Given the description of an element on the screen output the (x, y) to click on. 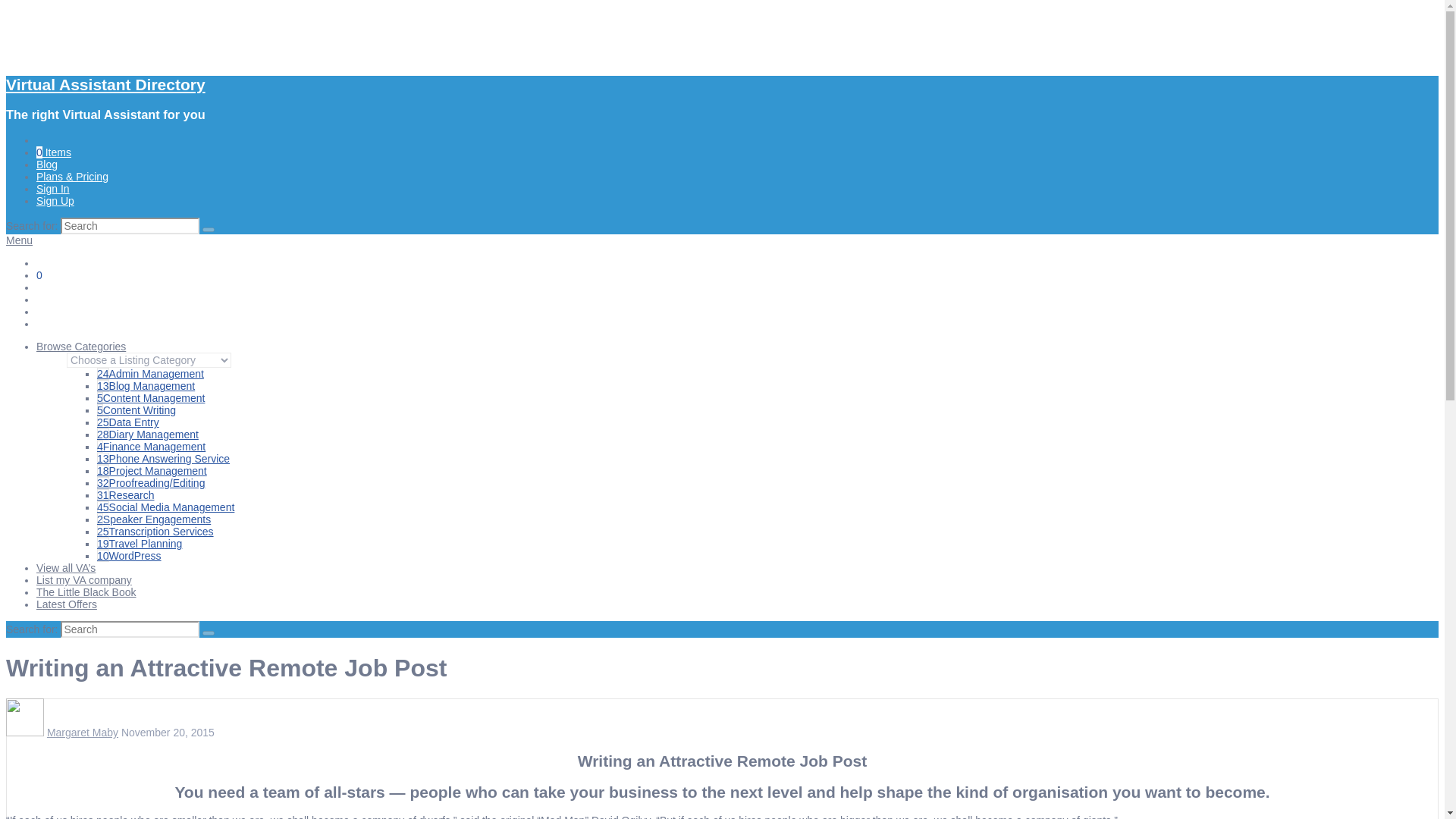
The Little Black Book (86, 592)
Blog (47, 164)
View all listings in Diary Management (147, 434)
13Phone Answering Service (163, 458)
View all listings in Transcription Services (155, 531)
19Travel Planning (139, 543)
View all listings in Research (125, 494)
5Content Writing (136, 410)
0 Items (53, 152)
0 Items (53, 275)
28Diary Management (147, 434)
View all listings in Data Entry (127, 422)
4Finance Management (151, 446)
View all listings in Speaker Engagements (154, 519)
View all listings in Phone Answering Service (163, 458)
